Given the description of an element on the screen output the (x, y) to click on. 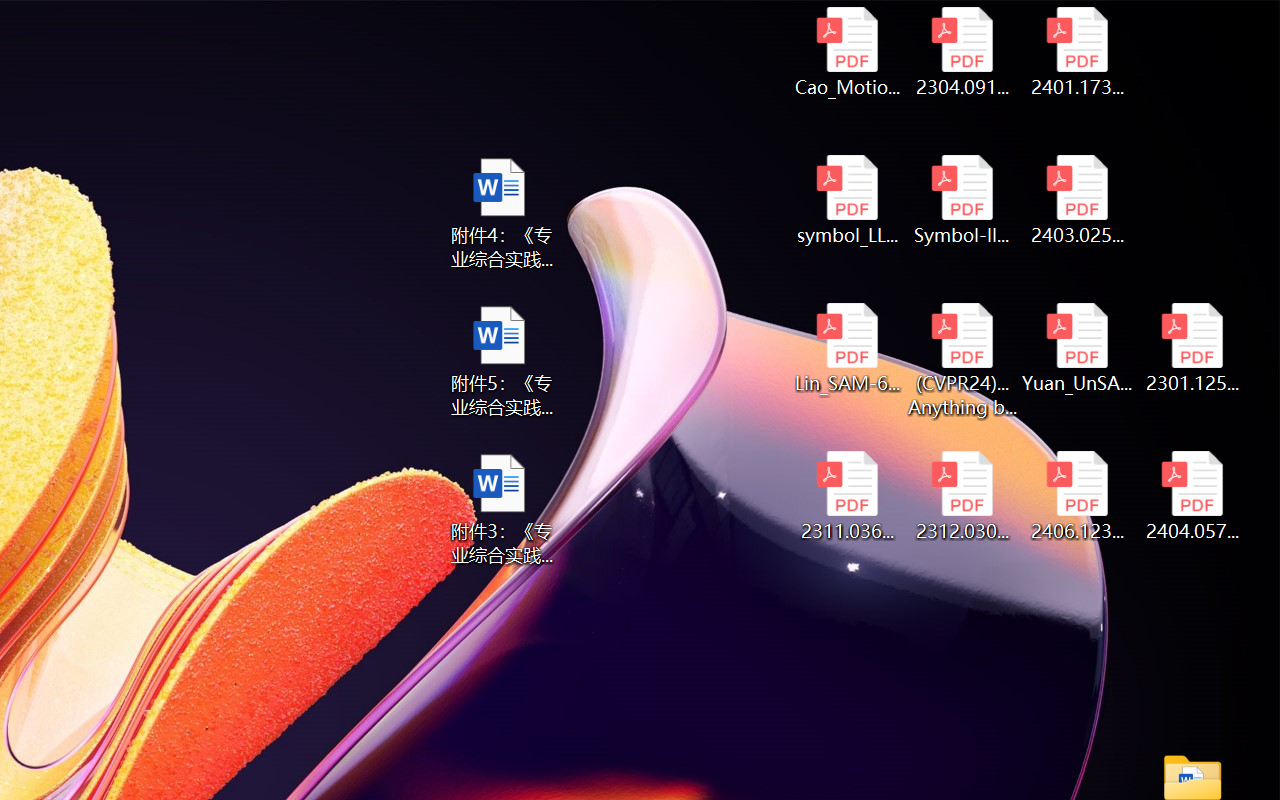
2311.03658v2.pdf (846, 496)
(CVPR24)Matching Anything by Segmenting Anything.pdf (962, 360)
2403.02502v1.pdf (1077, 200)
symbol_LLM.pdf (846, 200)
2304.09121v3.pdf (962, 52)
2301.12597v3.pdf (1192, 348)
2401.17399v1.pdf (1077, 52)
2406.12373v2.pdf (1077, 496)
2404.05719v1.pdf (1192, 496)
Symbol-llm-v2.pdf (962, 200)
